Given the description of an element on the screen output the (x, y) to click on. 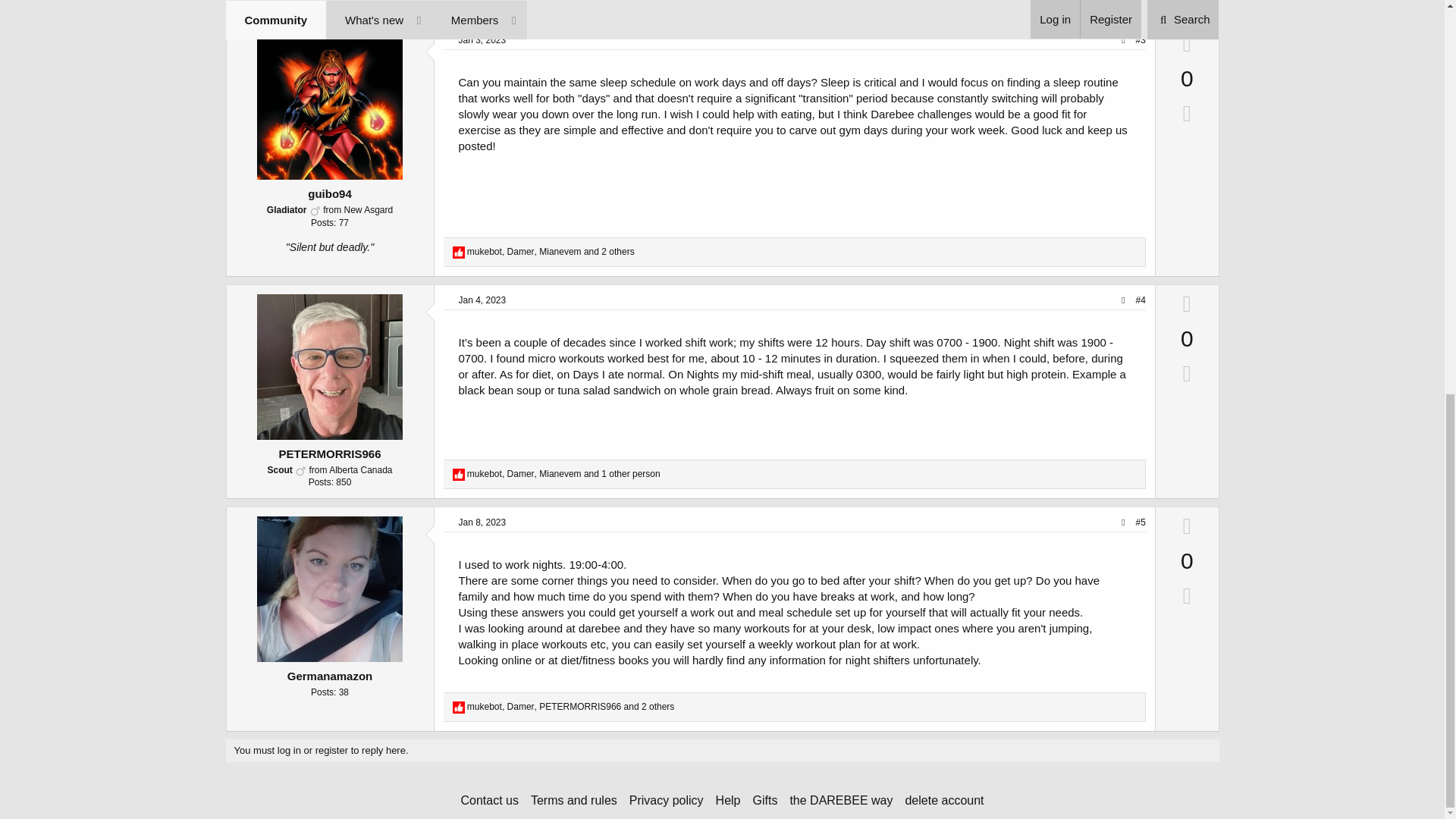
Jan 8, 2023 at 1:14 PM (481, 521)
Like (457, 707)
Jan 4, 2023 at 4:29 AM (481, 299)
Jan 3, 2023 at 9:46 PM (481, 40)
Like (457, 474)
Like (457, 252)
